Given the description of an element on the screen output the (x, y) to click on. 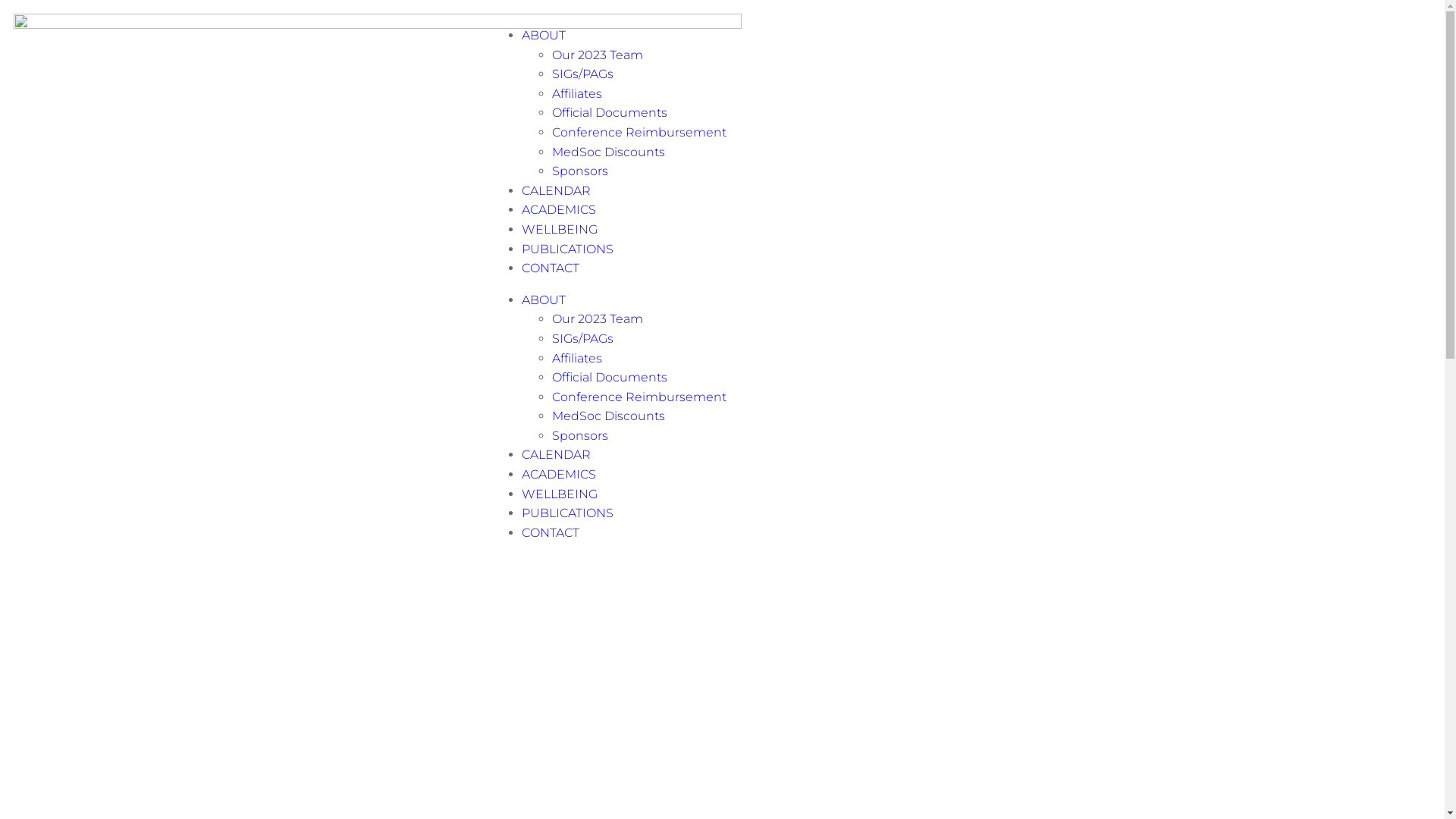
Official Documents Element type: text (609, 377)
CONTACT Element type: text (550, 267)
Sponsors Element type: text (580, 435)
Our 2023 Team Element type: text (597, 54)
ABOUT Element type: text (543, 35)
WELLBEING Element type: text (559, 493)
Sponsors Element type: text (580, 170)
WELLBEING Element type: text (559, 229)
MedSoc Discounts Element type: text (608, 151)
CALENDAR Element type: text (555, 190)
SIGs/PAGs Element type: text (582, 73)
ABOUT Element type: text (543, 299)
ACADEMICS Element type: text (558, 474)
Our 2023 Team Element type: text (597, 318)
ACADEMICS Element type: text (558, 209)
MedSoc Discounts Element type: text (608, 415)
Affiliates Element type: text (577, 93)
CALENDAR Element type: text (555, 454)
CONTACT Element type: text (550, 532)
Affiliates Element type: text (577, 357)
Conference Reimbursement Element type: text (639, 396)
Official Documents Element type: text (609, 112)
PUBLICATIONS Element type: text (567, 248)
Conference Reimbursement Element type: text (639, 132)
SIGs/PAGs Element type: text (582, 338)
PUBLICATIONS Element type: text (567, 512)
